Given the description of an element on the screen output the (x, y) to click on. 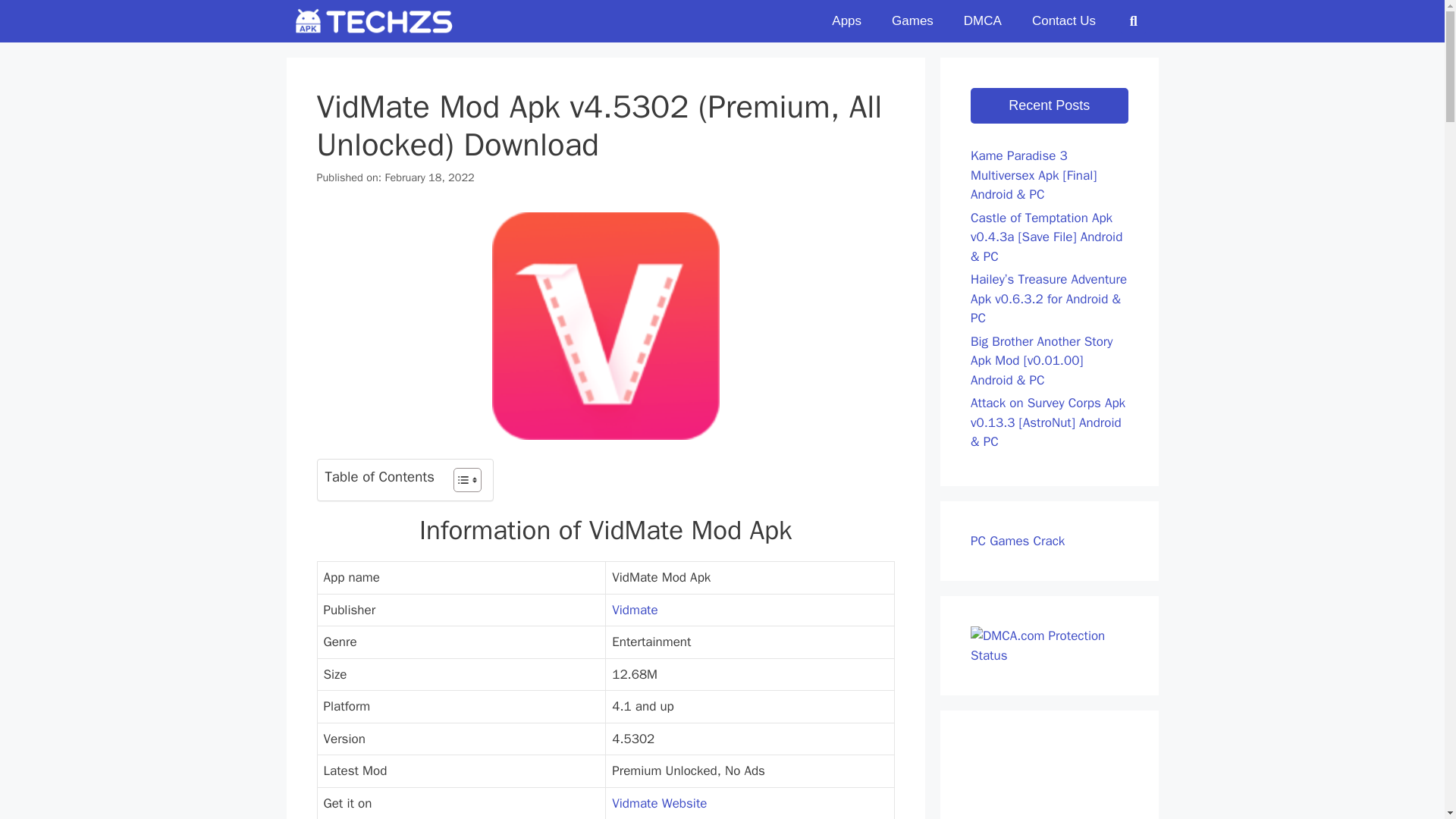
Advertisement (1056, 780)
DMCA.com Protection Status (1049, 655)
Games (912, 21)
Apps (846, 21)
DMCA (982, 21)
Contact Us (1063, 21)
